Given the description of an element on the screen output the (x, y) to click on. 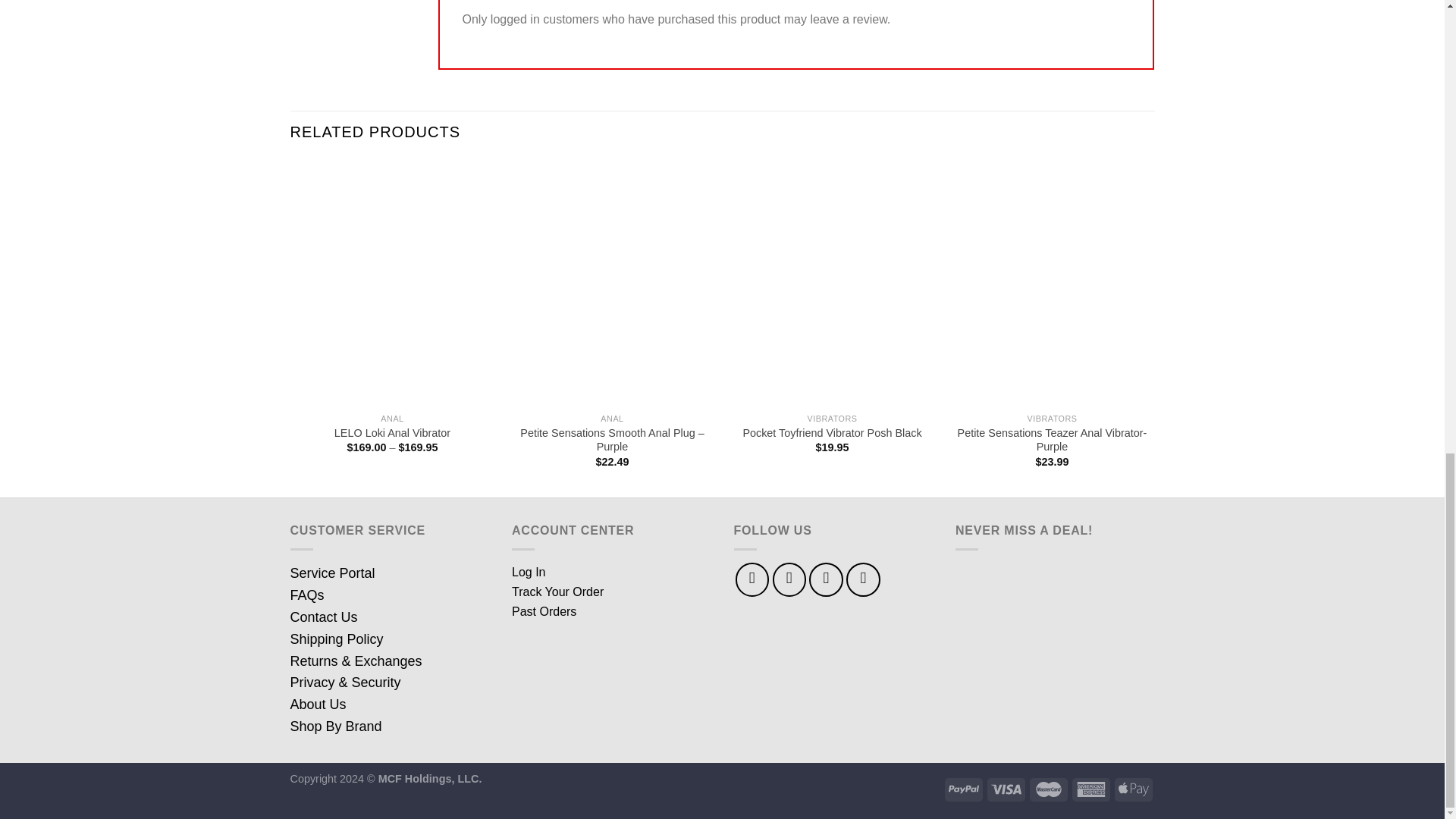
Follow on Facebook (752, 579)
Follow on Instagram (789, 579)
Follow on Twitter (826, 579)
